Given the description of an element on the screen output the (x, y) to click on. 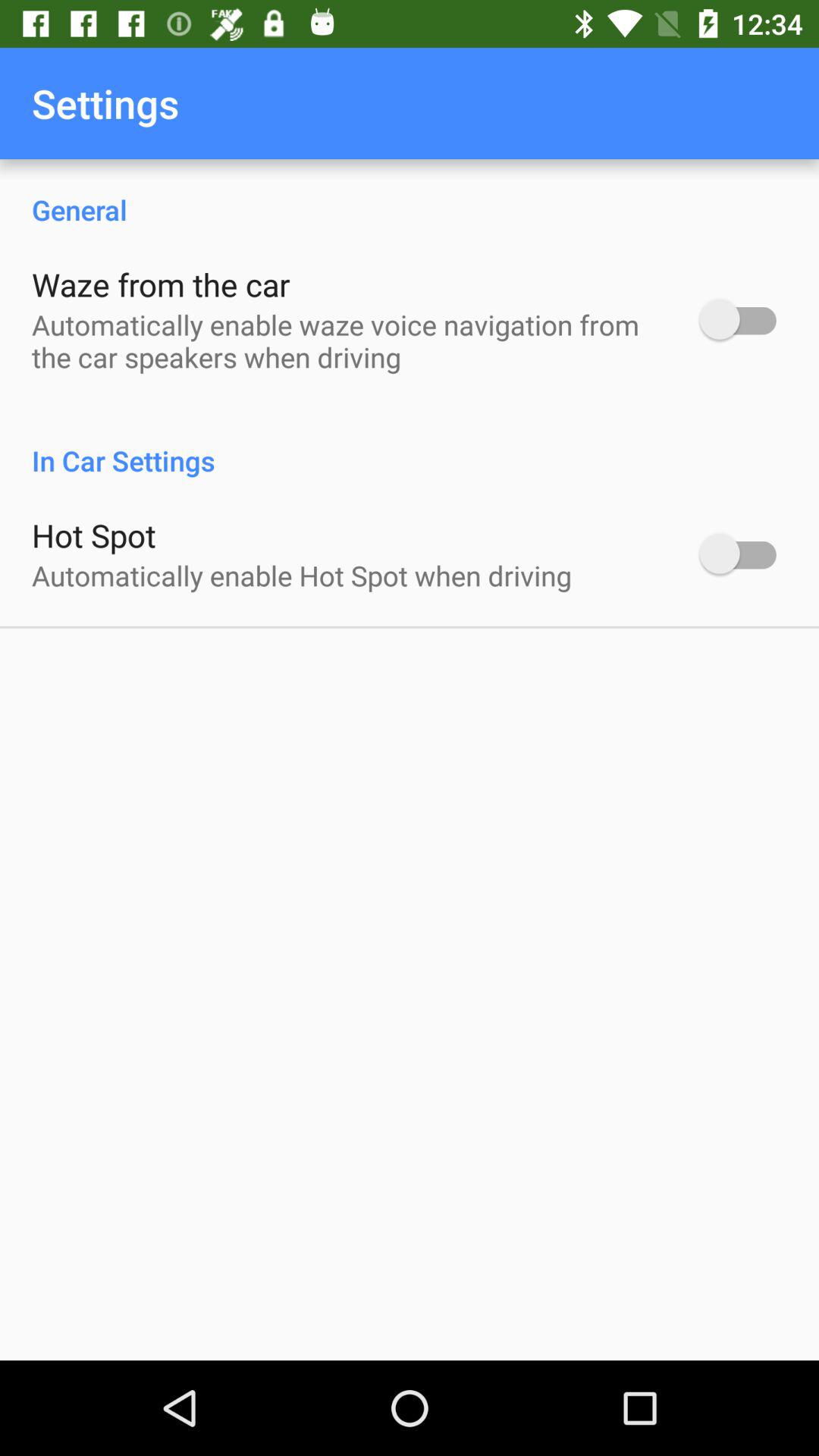
open the item below automatically enable waze (409, 444)
